Given the description of an element on the screen output the (x, y) to click on. 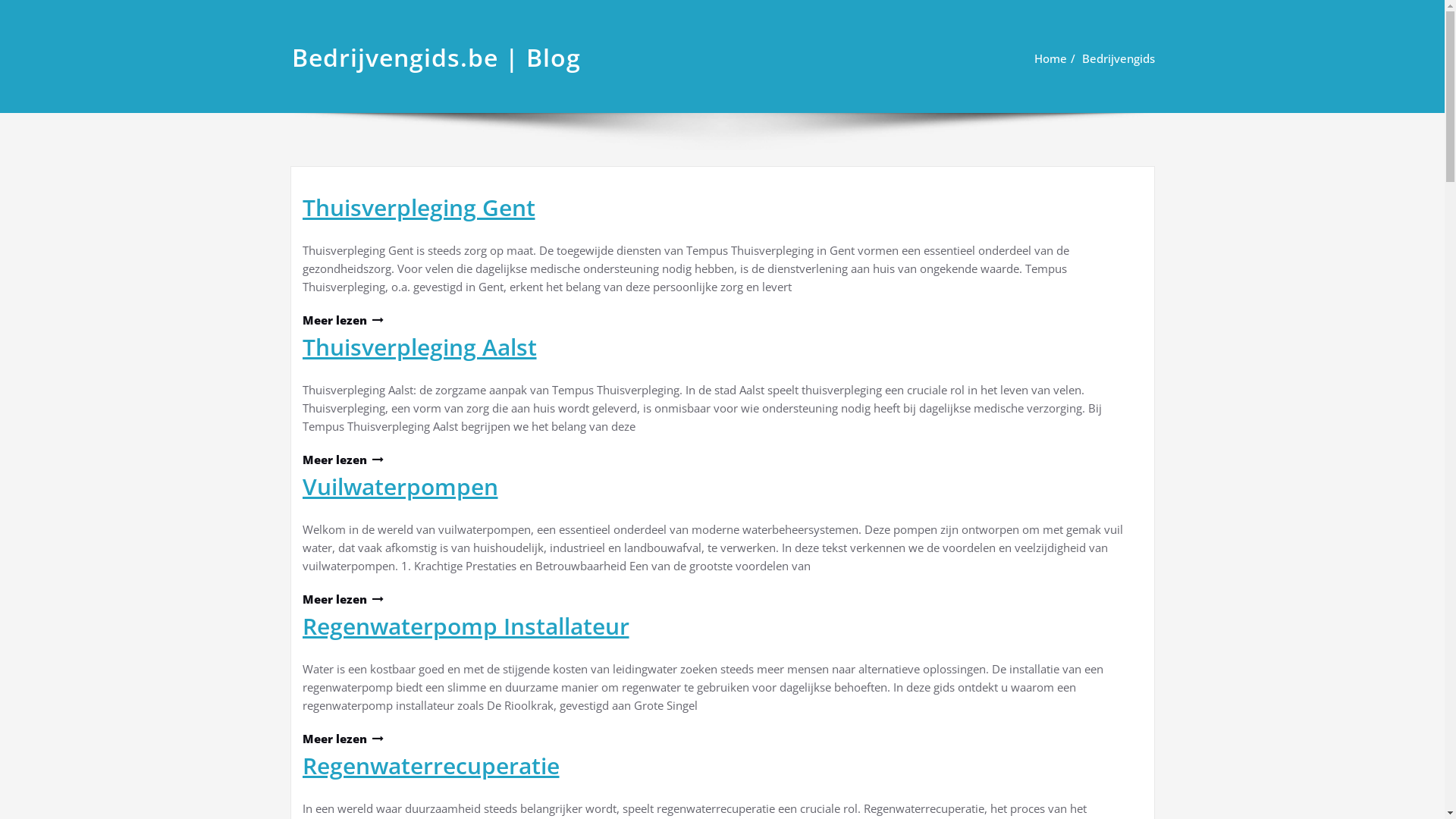
Vuilwaterpompen Element type: text (399, 486)
Regenwaterrecuperatie Element type: text (429, 765)
Meer lezen Element type: text (341, 738)
Thuisverpleging Aalst Element type: text (418, 346)
Regenwaterpomp Installateur Element type: text (464, 625)
Meer lezen Element type: text (341, 459)
Home Element type: text (1050, 57)
Thuisverpleging Gent Element type: text (417, 206)
Bedrijvengids Element type: text (1117, 57)
Meer lezen Element type: text (341, 598)
Meer lezen Element type: text (341, 319)
